Given the description of an element on the screen output the (x, y) to click on. 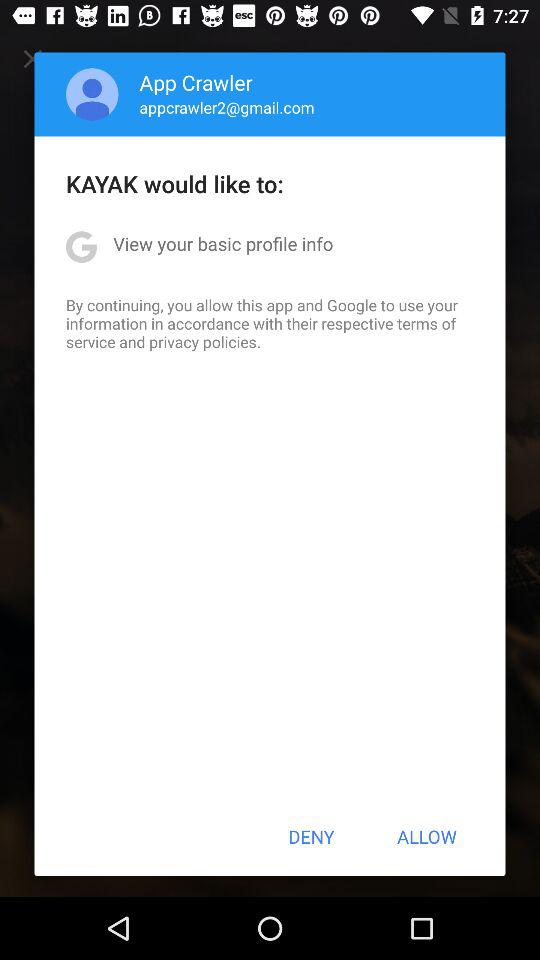
click the button next to the allow button (311, 836)
